Given the description of an element on the screen output the (x, y) to click on. 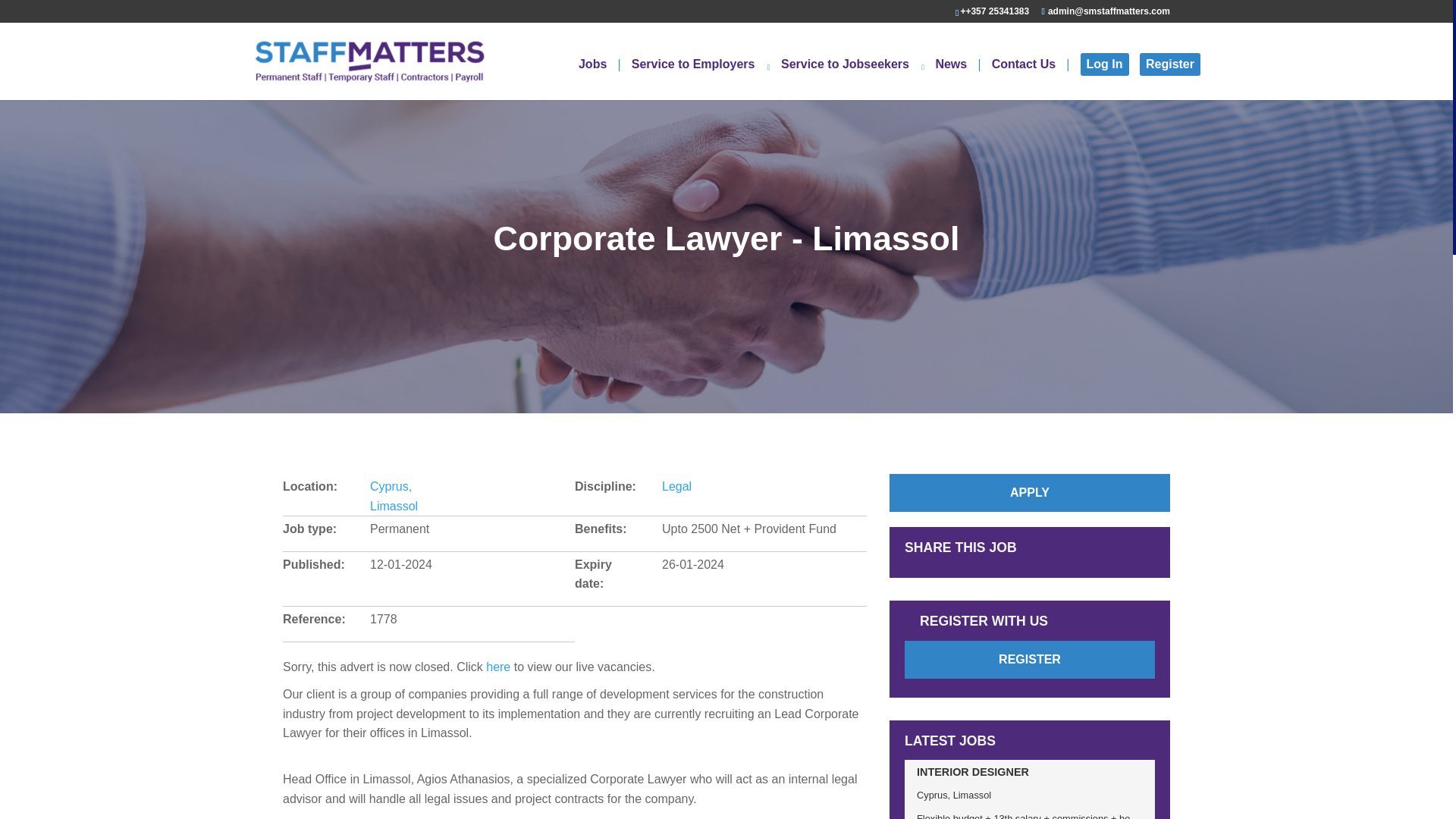
Jobs (599, 78)
News (956, 78)
Service to Employers (700, 78)
Service to Jobseekers (852, 78)
StaffMatters Recruitment (369, 60)
Register (1169, 64)
Log In (1104, 64)
Contact Us (1029, 78)
